Given the description of an element on the screen output the (x, y) to click on. 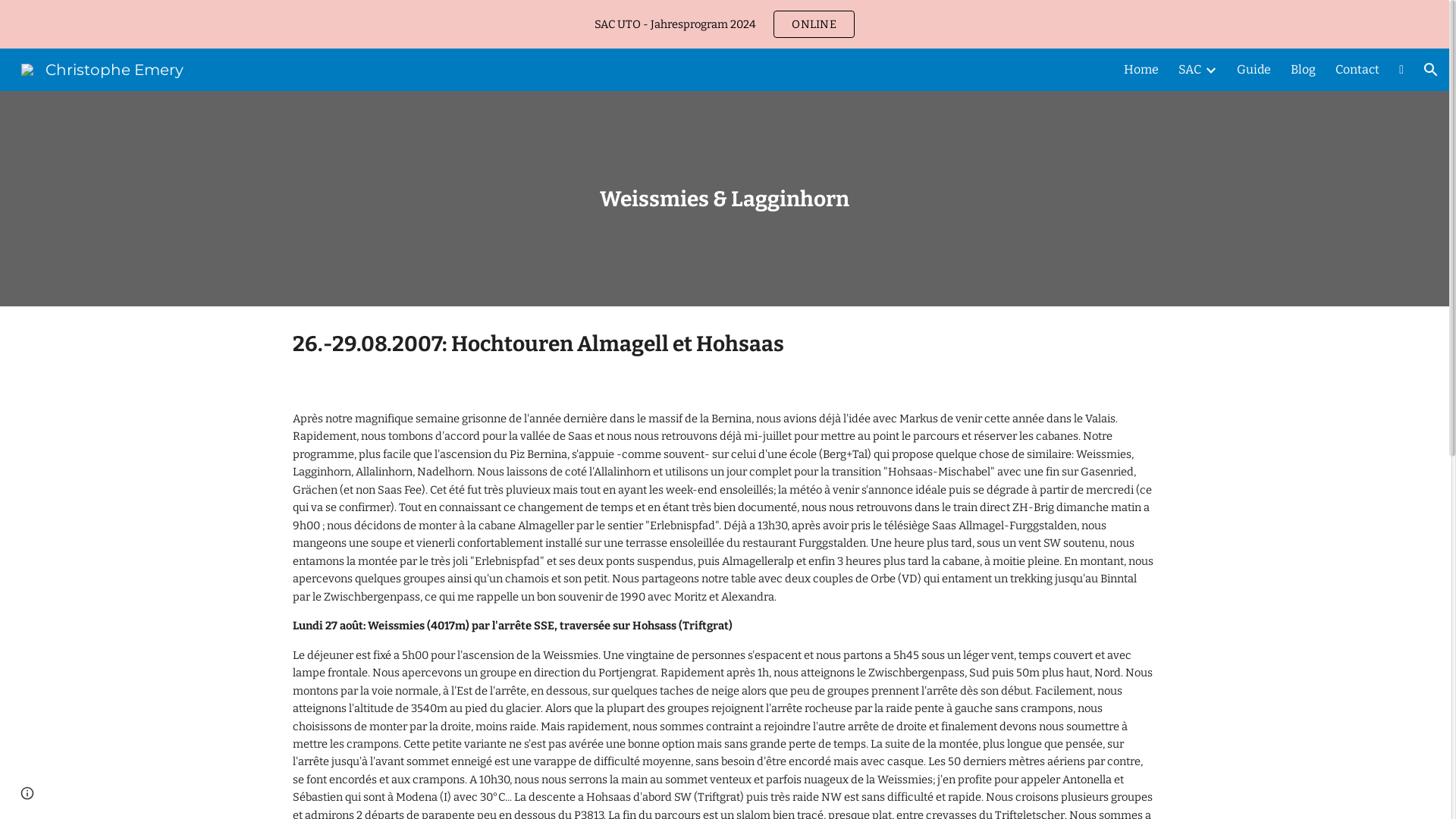
ONLINE Element type: text (813, 24)
Expand/Collapse Element type: hover (1210, 69)
SAC Element type: text (1189, 69)
Home Element type: text (1140, 69)
Blog Element type: text (1302, 69)
Guide Element type: text (1253, 69)
Christophe Emery Element type: text (102, 68)
Contact Element type: text (1357, 69)
